Given the description of an element on the screen output the (x, y) to click on. 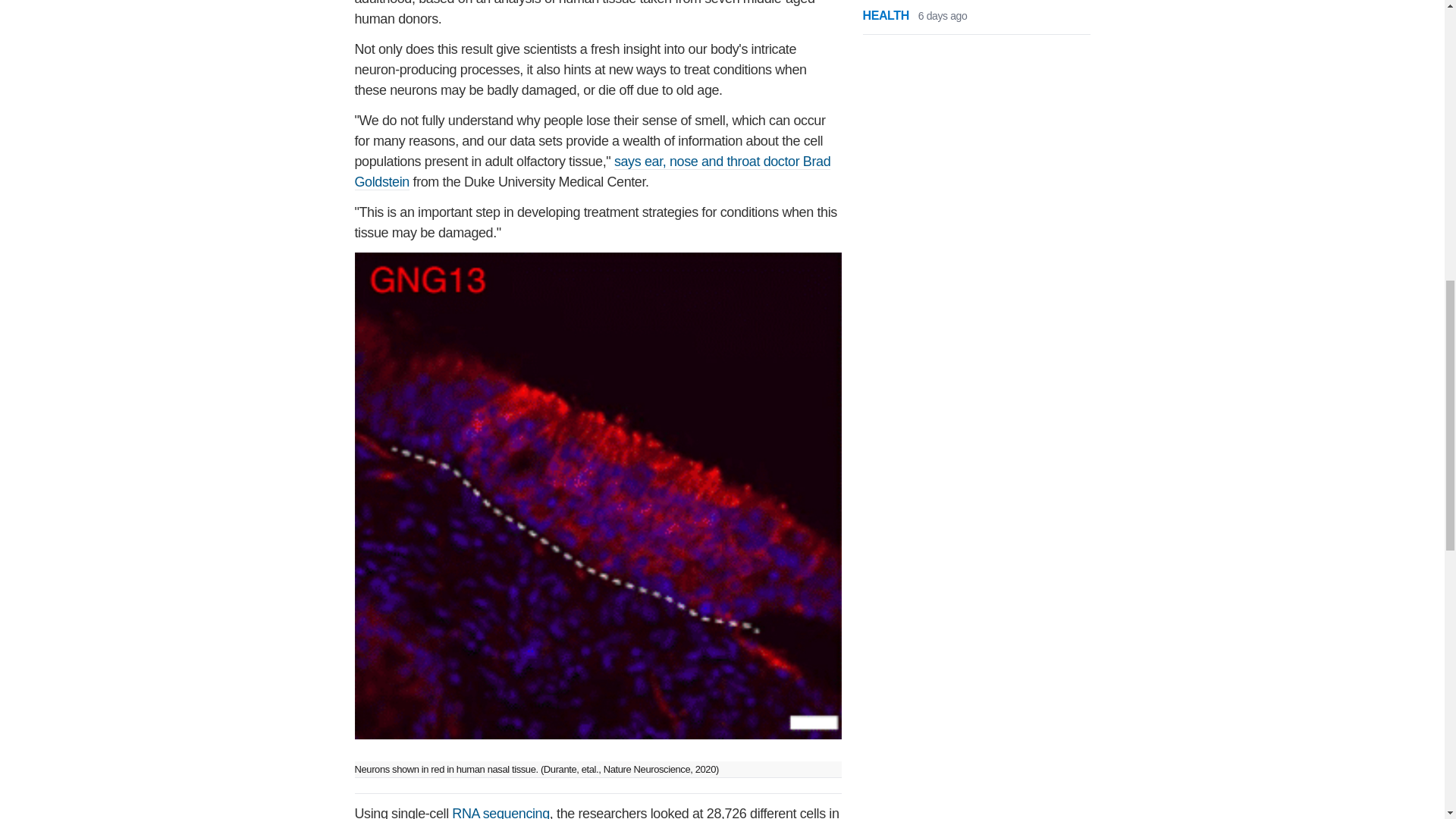
says ear, nose and throat doctor Brad Goldstein (593, 171)
RNA sequencing (500, 812)
